Given the description of an element on the screen output the (x, y) to click on. 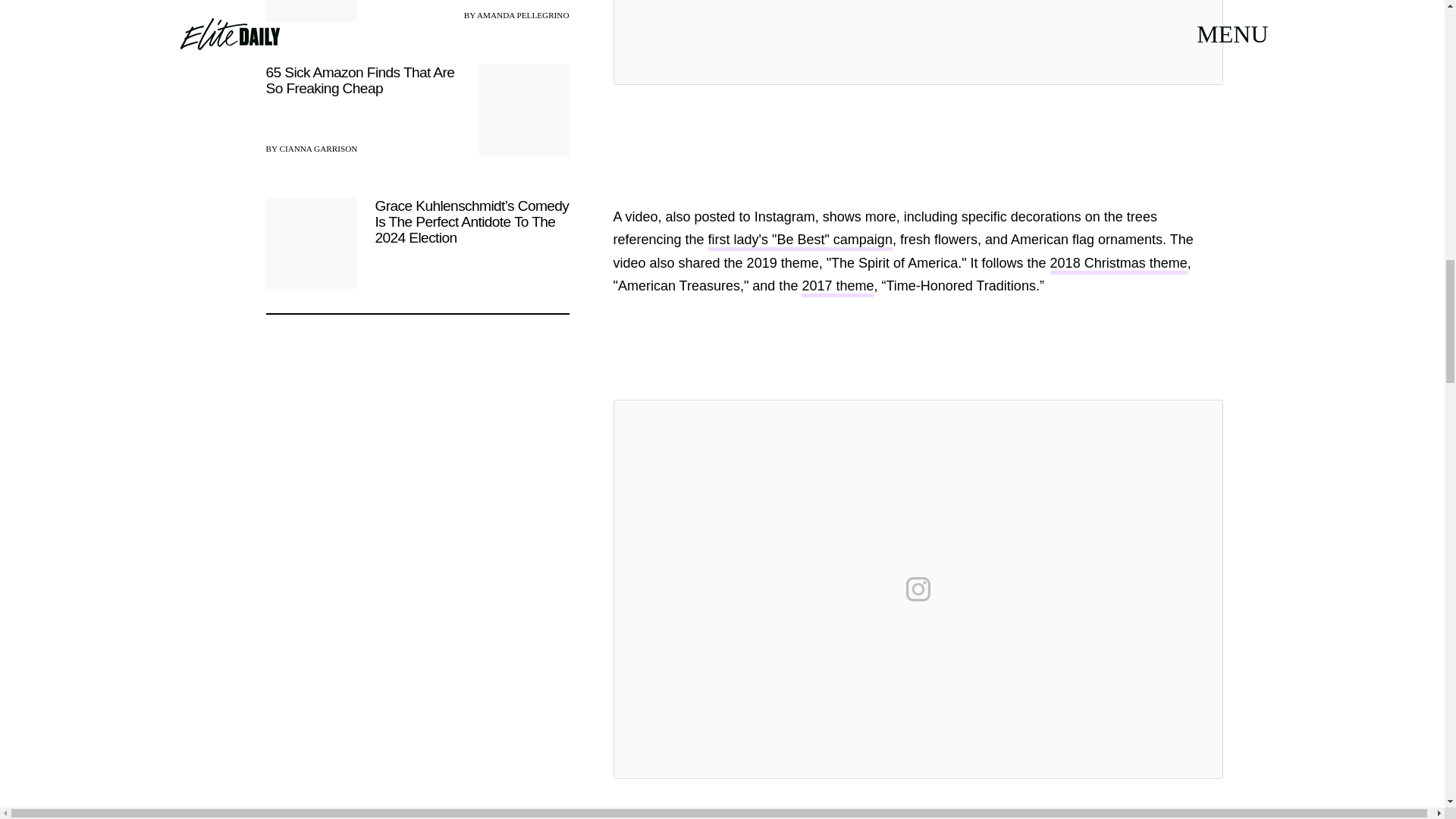
View on Instagram (917, 588)
first lady's "Be Best" campaign (799, 240)
2018 Christmas theme (1118, 264)
2017 theme (837, 287)
